Given the description of an element on the screen output the (x, y) to click on. 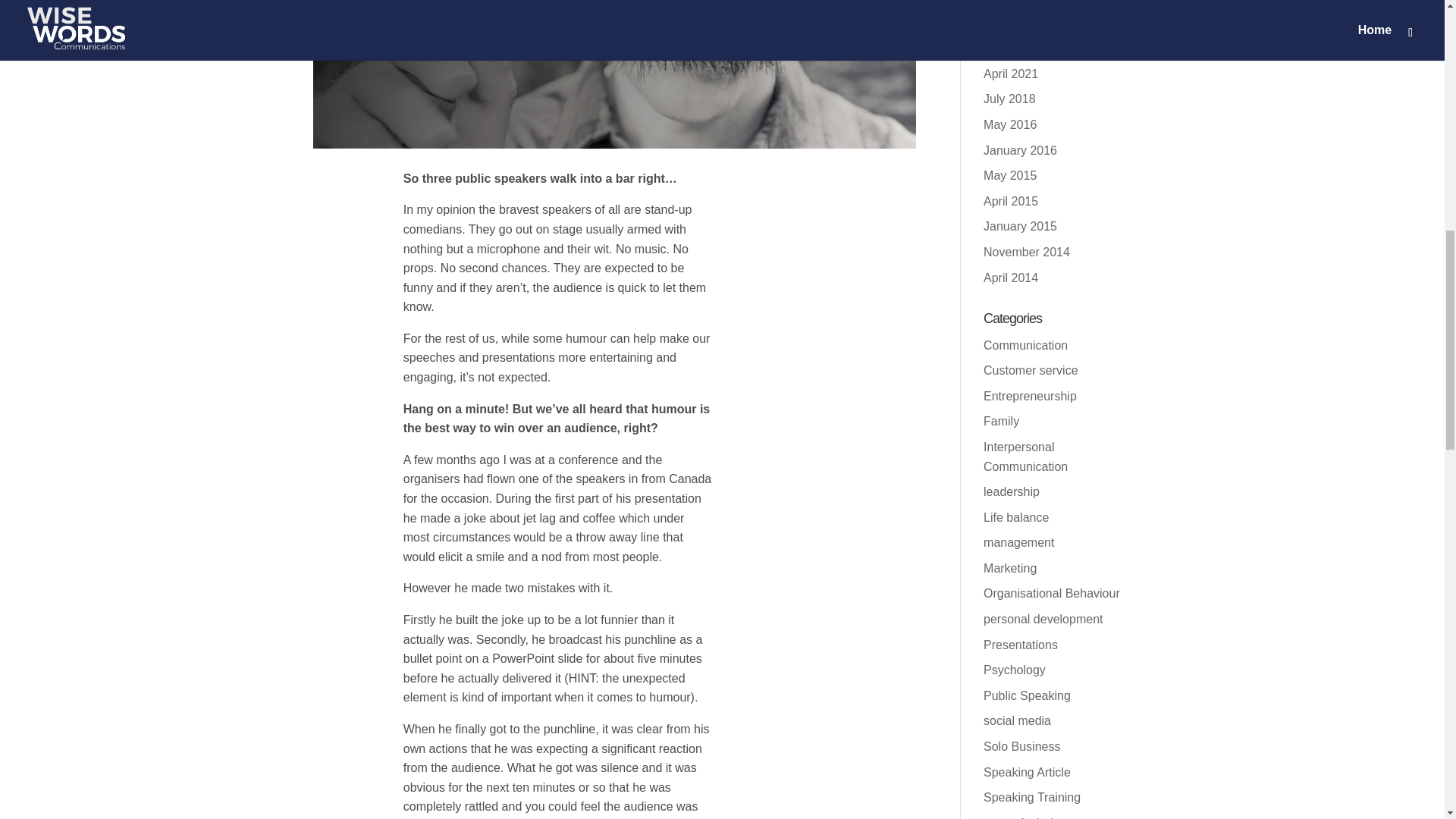
Family (1001, 420)
October 2021 (1020, 2)
January 2015 (1020, 226)
May 2016 (1010, 124)
July 2018 (1009, 98)
June 2021 (1012, 47)
April 2014 (1011, 277)
Customer service (1030, 369)
November 2014 (1027, 251)
Communication (1025, 345)
May 2015 (1010, 174)
Entrepreneurship (1030, 395)
July 2021 (1009, 22)
April 2021 (1011, 73)
January 2016 (1020, 150)
